Given the description of an element on the screen output the (x, y) to click on. 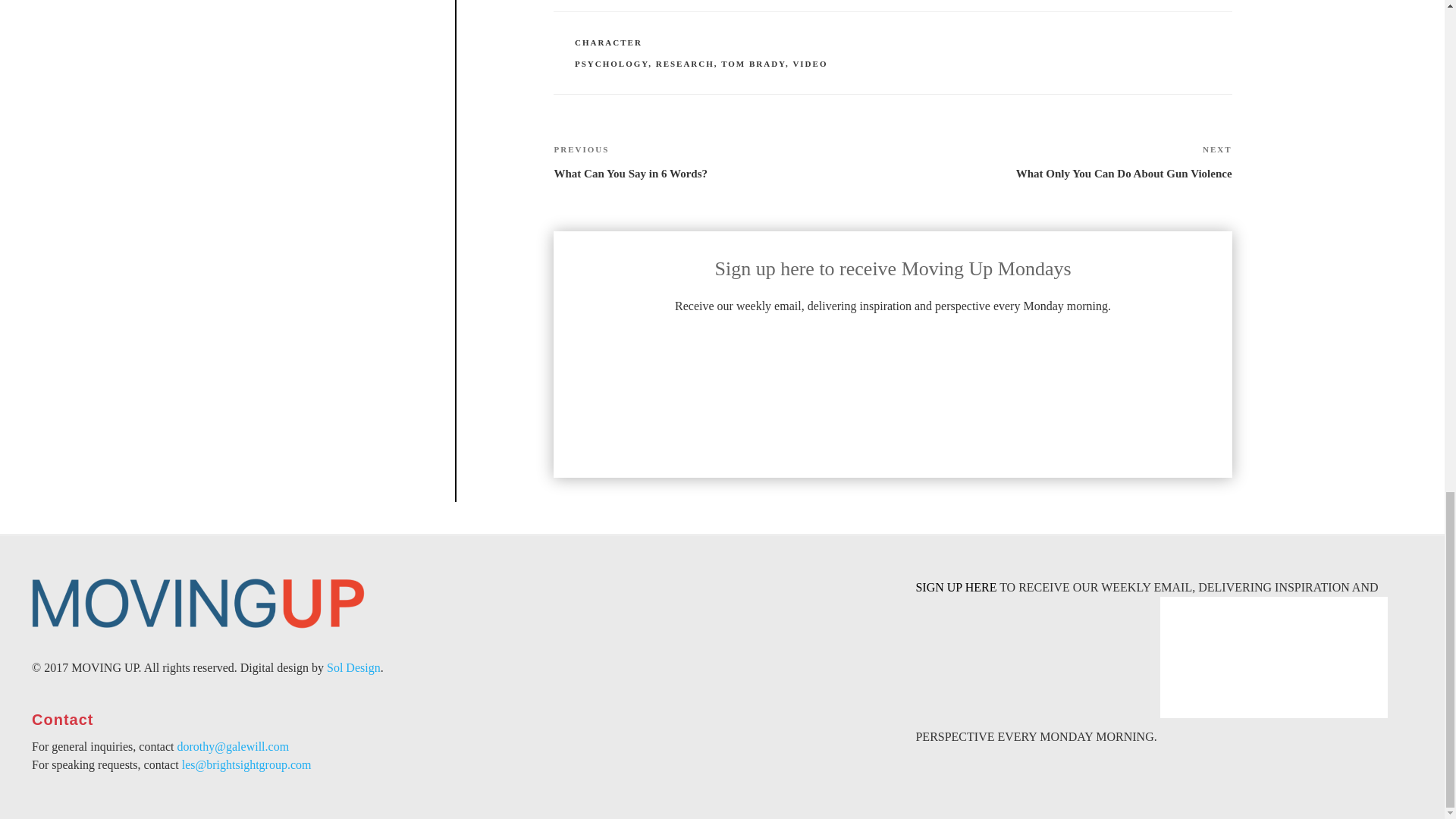
RESEARCH (722, 161)
PSYCHOLOGY (685, 62)
TOM BRADY (611, 62)
CHARACTER (1062, 161)
VIDEO (753, 62)
